Given the description of an element on the screen output the (x, y) to click on. 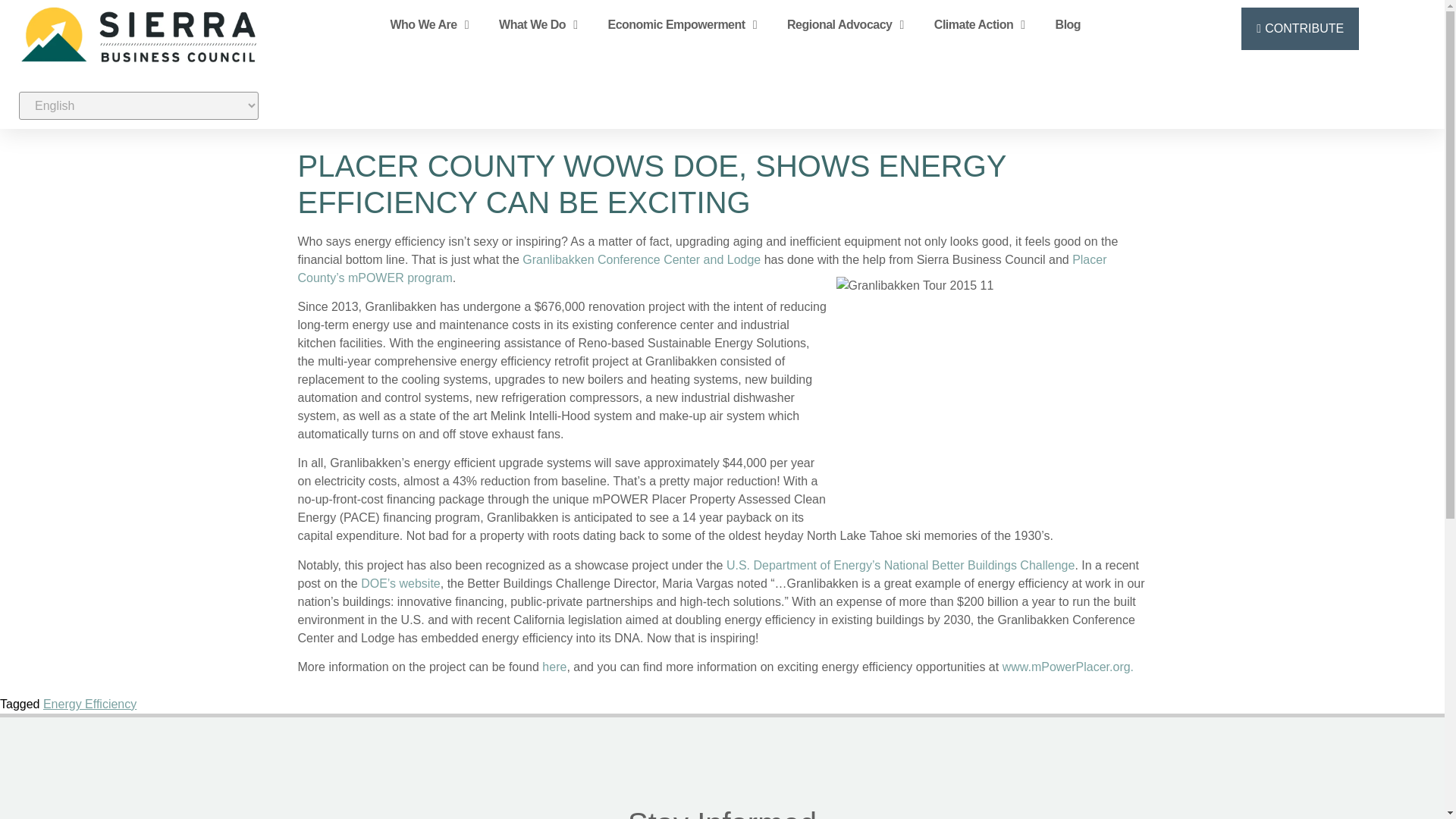
What We Do (537, 24)
Climate Action (979, 24)
Regional Advocacy (844, 24)
Economic Empowerment (681, 24)
Who We Are (428, 24)
Blog (1068, 24)
